Given the description of an element on the screen output the (x, y) to click on. 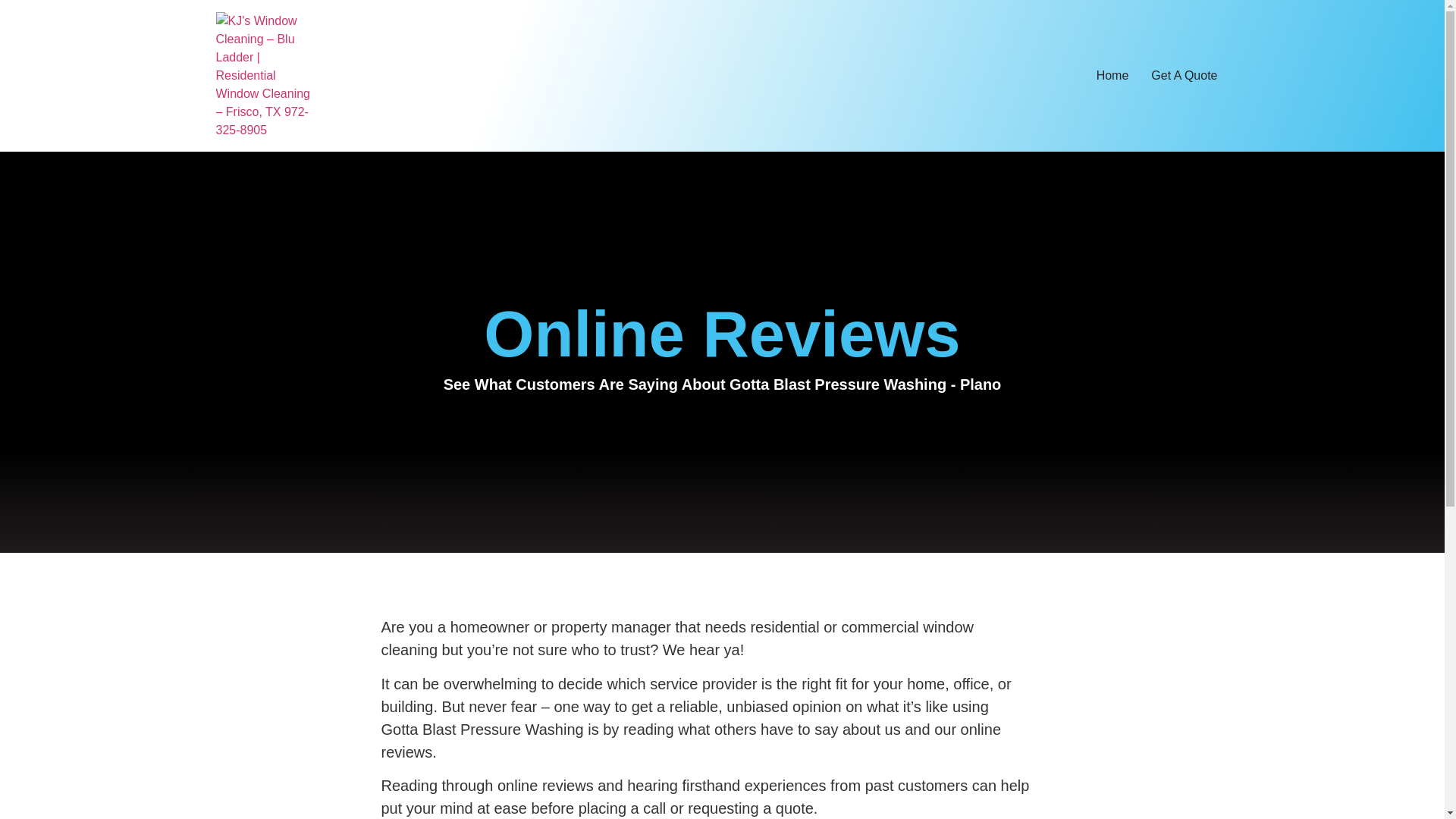
Home (1112, 75)
Get A Quote (1184, 75)
